Given the description of an element on the screen output the (x, y) to click on. 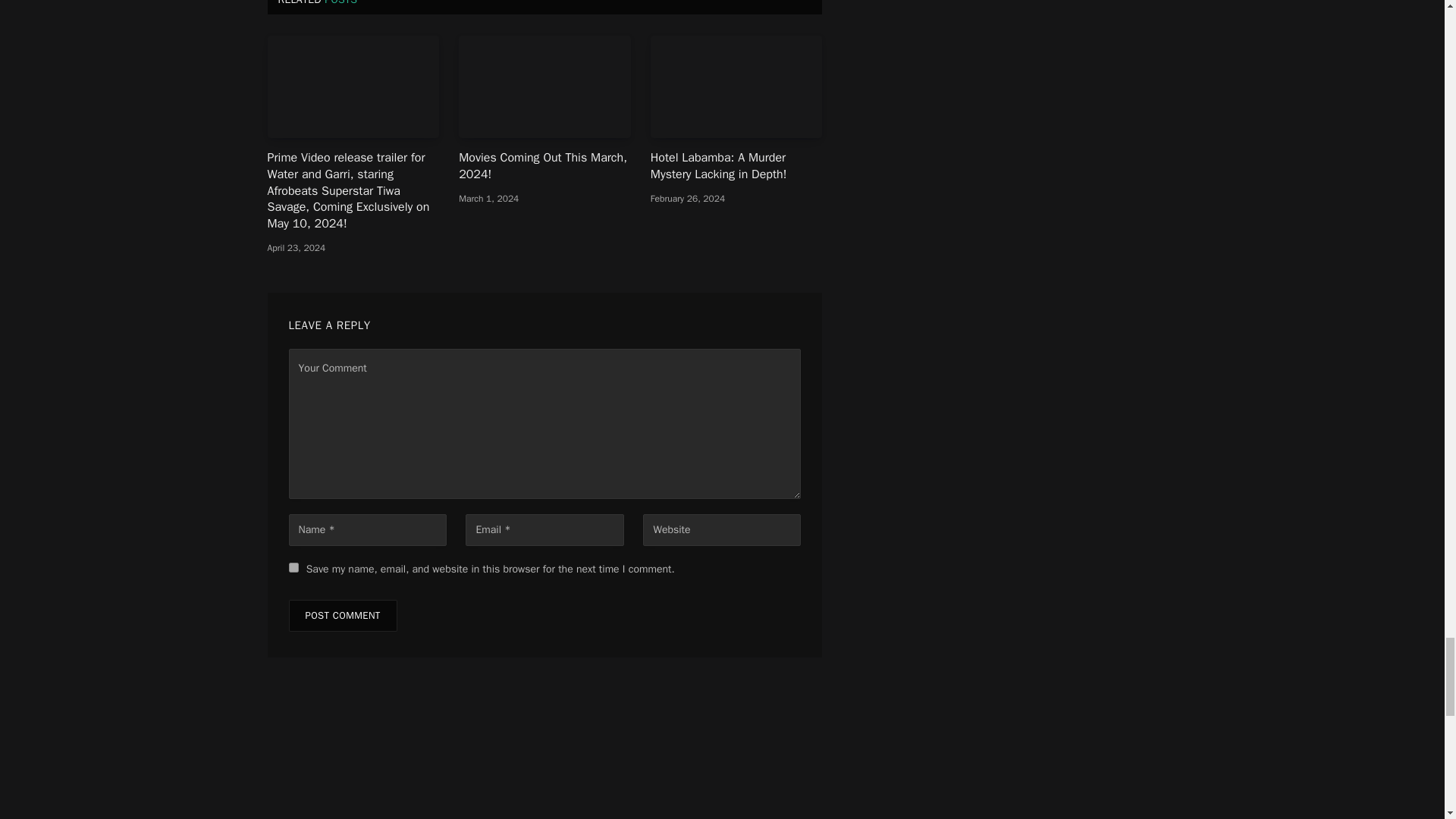
Post Comment (342, 615)
yes (293, 567)
